Given the description of an element on the screen output the (x, y) to click on. 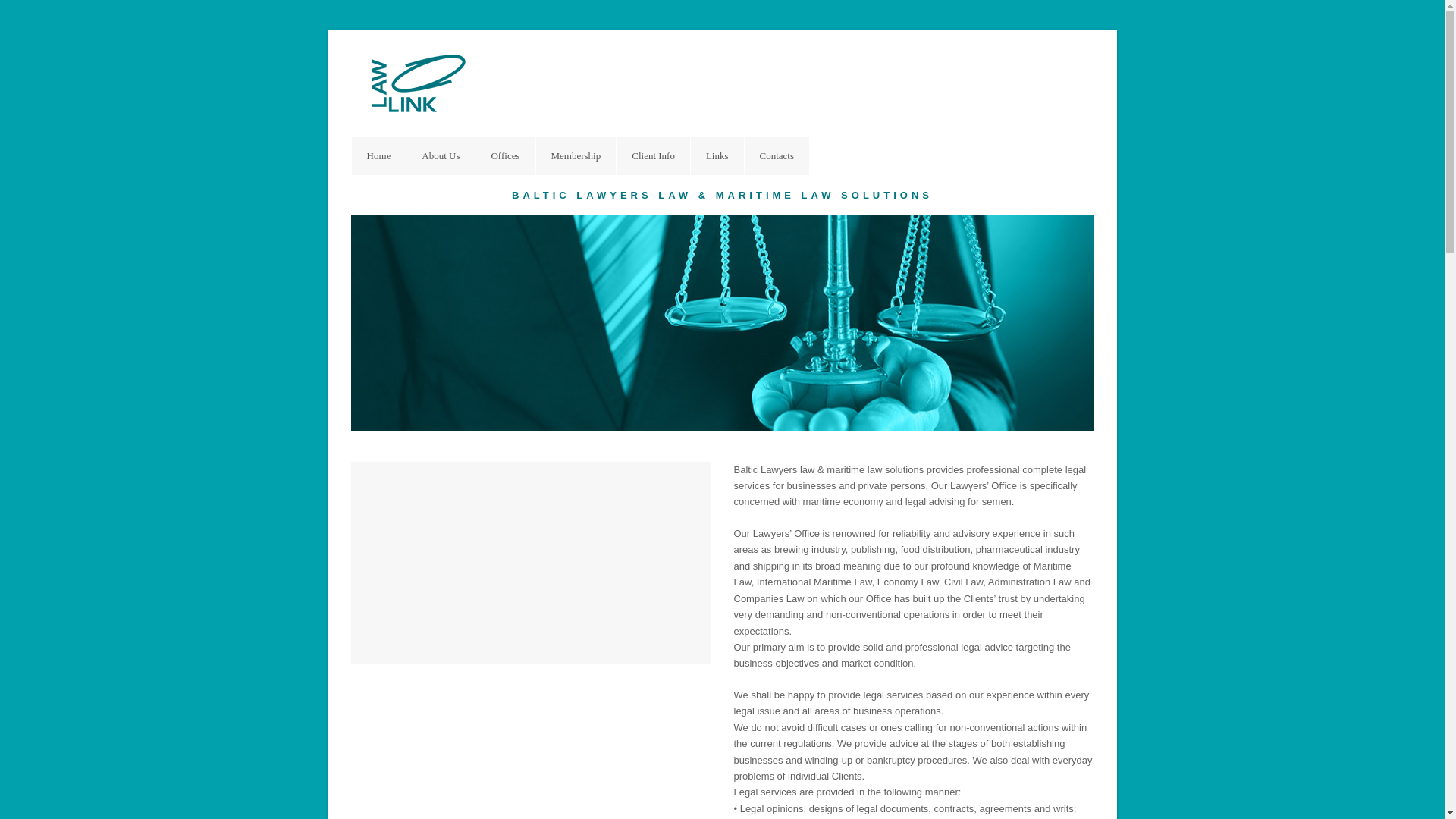
Links (717, 156)
Home (379, 156)
Client Info (652, 156)
About Us (440, 156)
Offices (505, 156)
Contacts (776, 156)
Membership (575, 156)
